Given the description of an element on the screen output the (x, y) to click on. 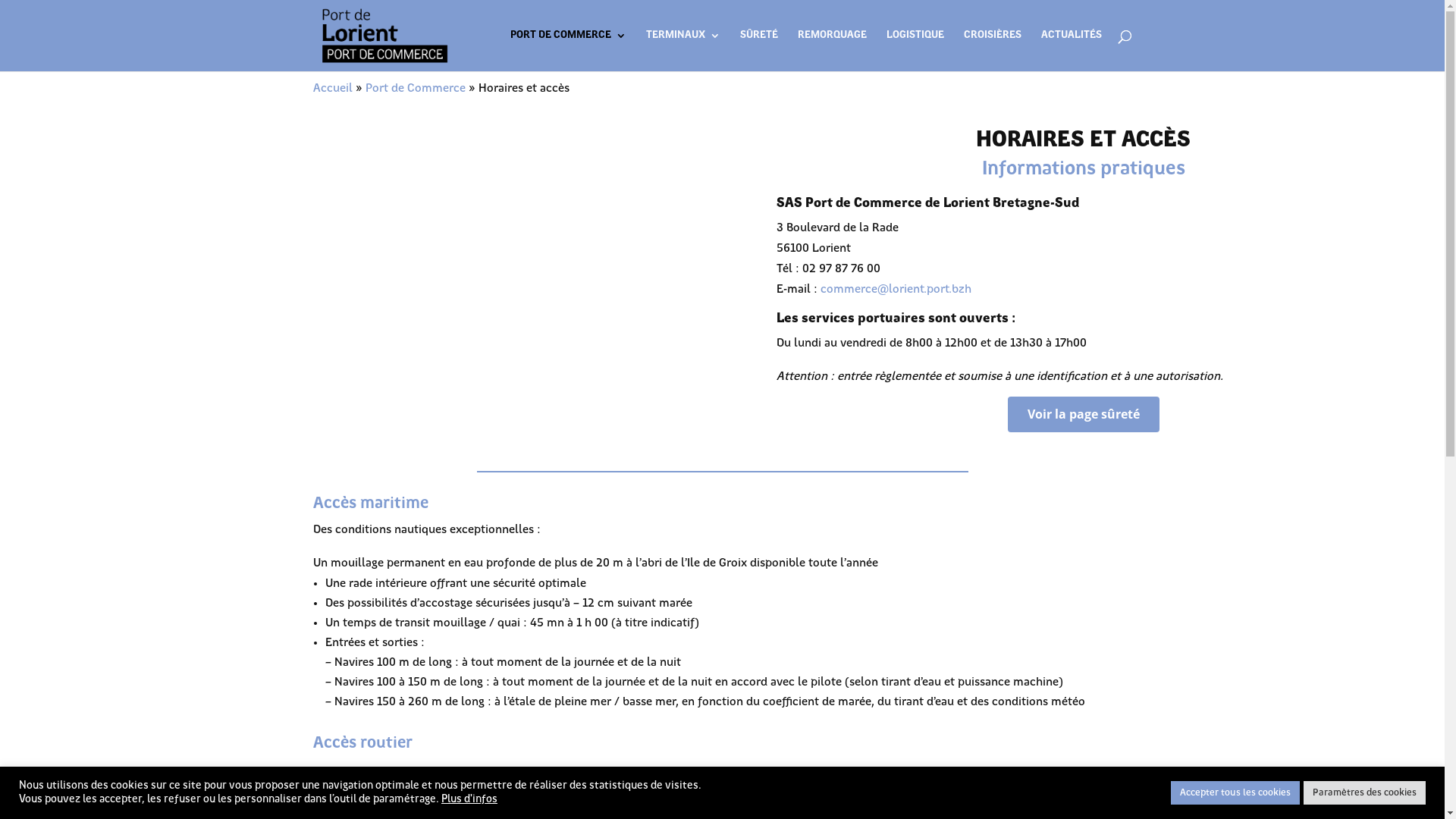
Port de Commerce Element type: text (415, 88)
commerce@lorient.port.bzh Element type: text (895, 289)
LOGISTIQUE Element type: text (914, 50)
REMORQUAGE Element type: text (831, 50)
Plus d'infos Element type: text (469, 798)
TERMINAUX Element type: text (683, 50)
PORT DE COMMERCE Element type: text (567, 50)
Accueil Element type: text (331, 88)
Accepter tous les cookies Element type: text (1234, 792)
